Given the description of an element on the screen output the (x, y) to click on. 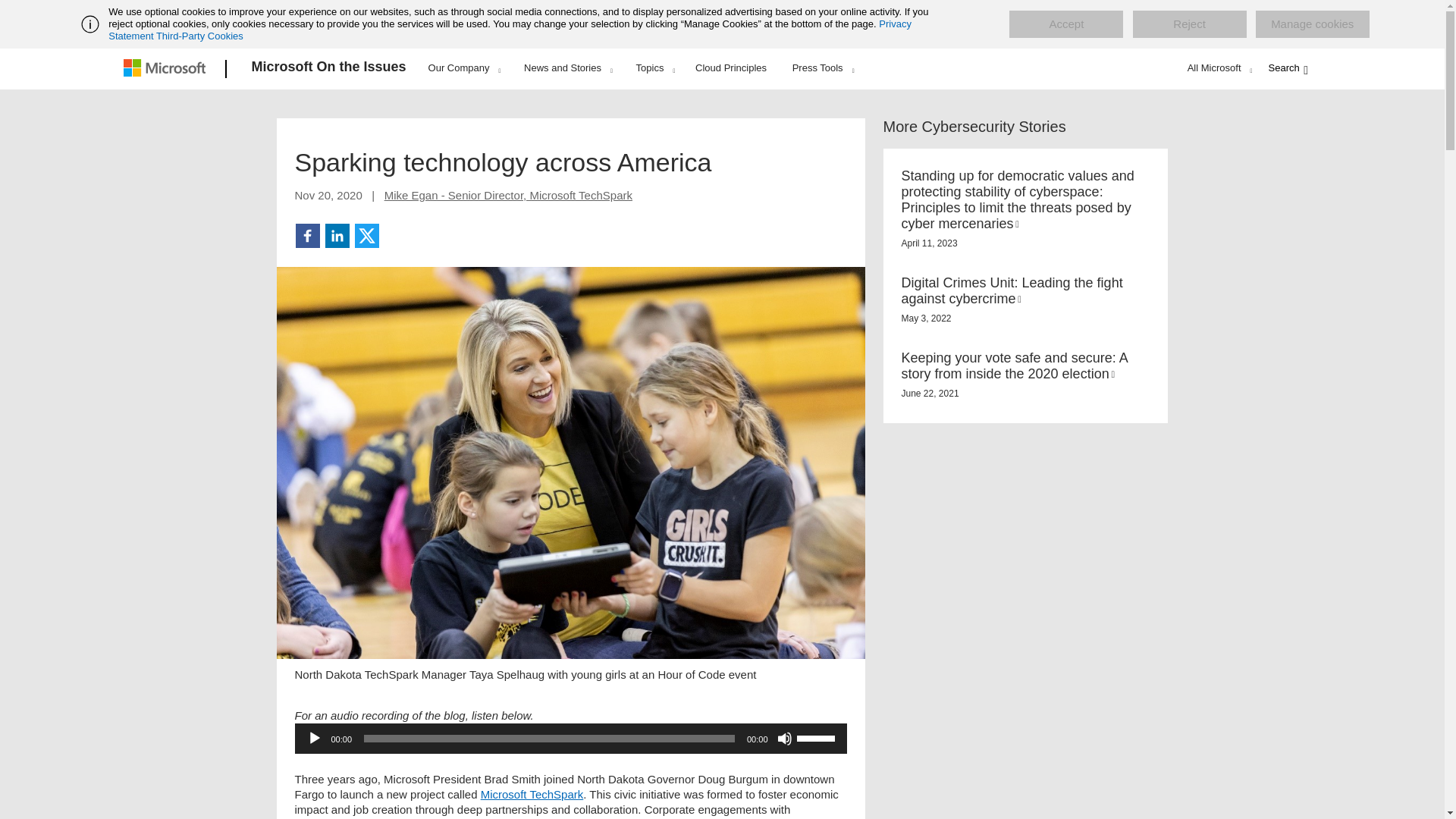
Accept (1065, 23)
Third-Party Cookies (199, 35)
Play (313, 738)
Our Company (463, 67)
Reject (1189, 23)
Mute (784, 738)
Privacy Statement (509, 29)
News and Stories (567, 67)
Microsoft (167, 69)
November 20, 2020 (327, 195)
